Given the description of an element on the screen output the (x, y) to click on. 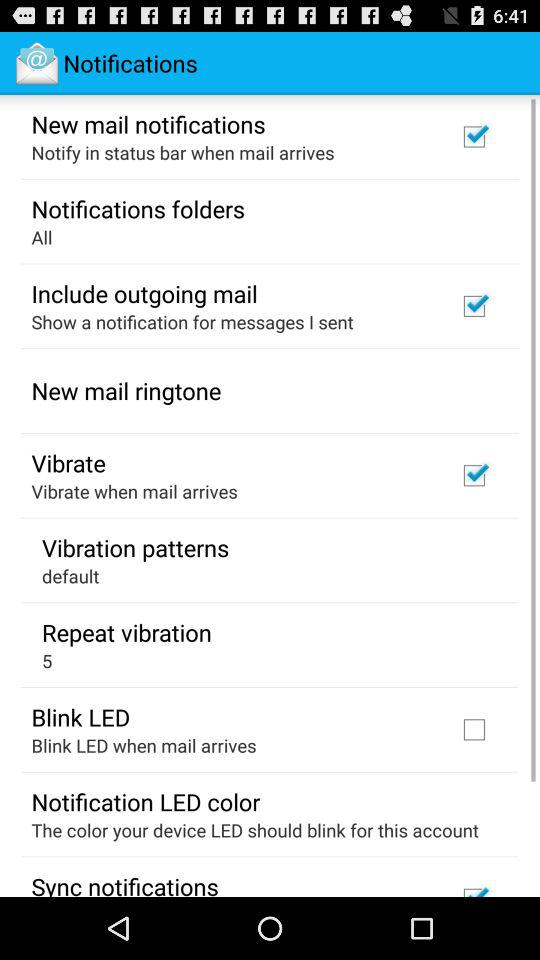
tap sync notifications app (124, 883)
